Given the description of an element on the screen output the (x, y) to click on. 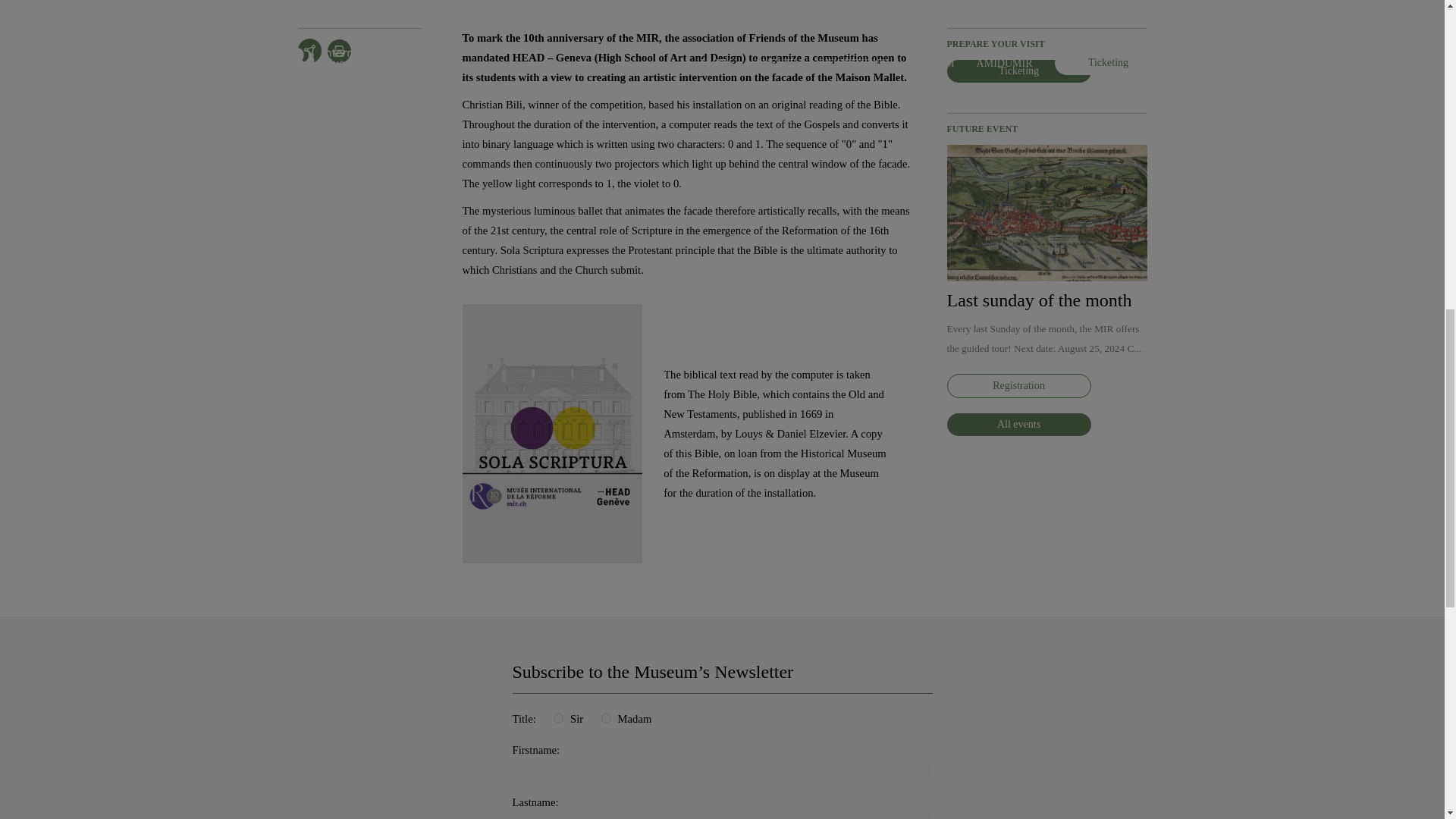
Ticketing (1018, 70)
Monsieur (558, 718)
Print this page (338, 51)
Registration (1018, 385)
Madame (606, 718)
Share this page (308, 50)
All events (1018, 424)
